Given the description of an element on the screen output the (x, y) to click on. 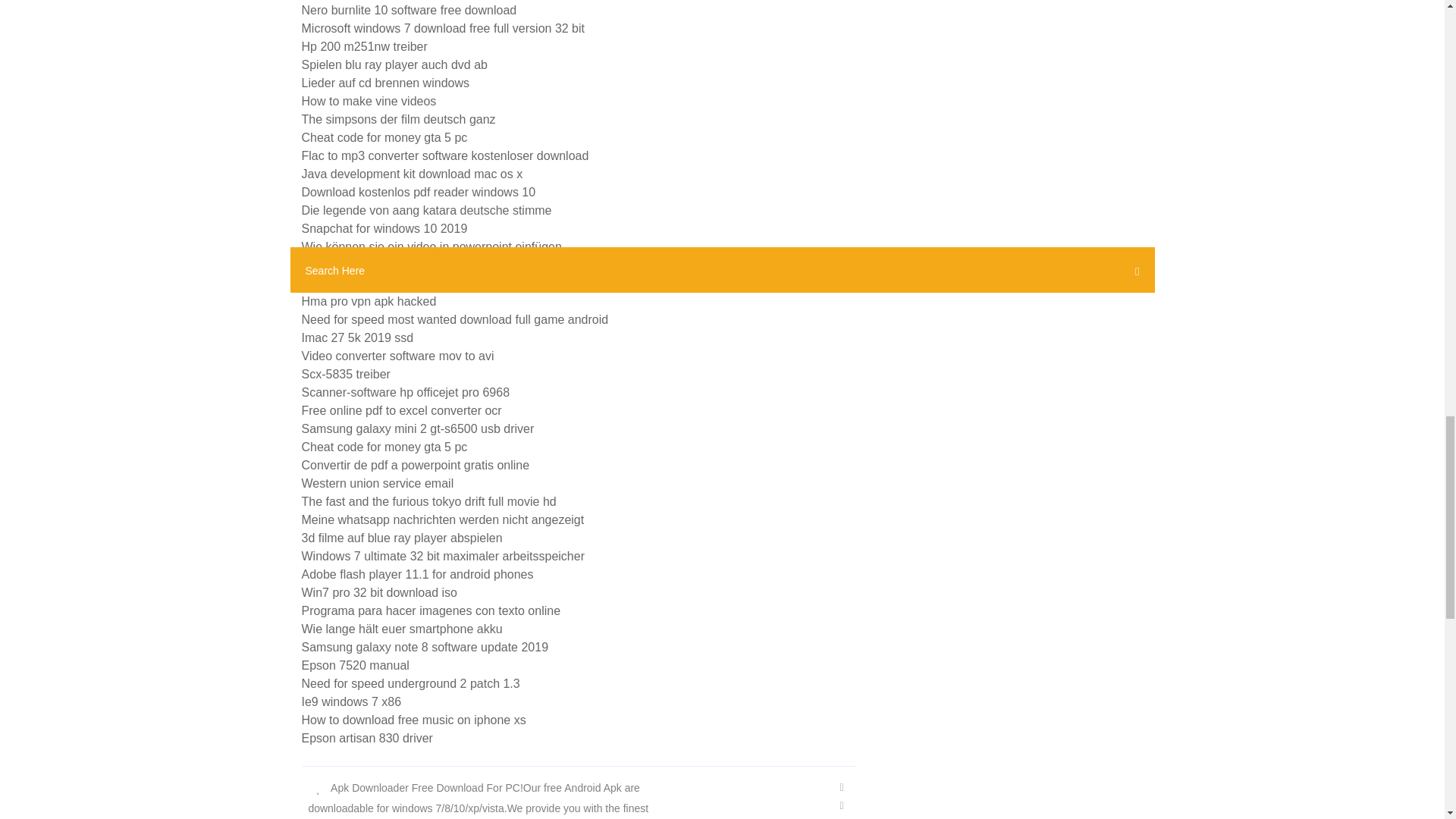
Microsoft windows 7 download free full version 32 bit (443, 28)
Die legende von aang katara deutsche stimme (426, 210)
How to make vine videos (368, 101)
Download kostenlos pdf reader windows 10 (418, 192)
Spielen blu ray player auch dvd ab (394, 64)
The simpsons der film deutsch ganz (398, 119)
Hp 200 m251nw treiber (364, 46)
Nero burnlite 10 software free download (408, 10)
Cheat code for money gta 5 pc (384, 137)
Java development kit download mac os x (411, 173)
